Given the description of an element on the screen output the (x, y) to click on. 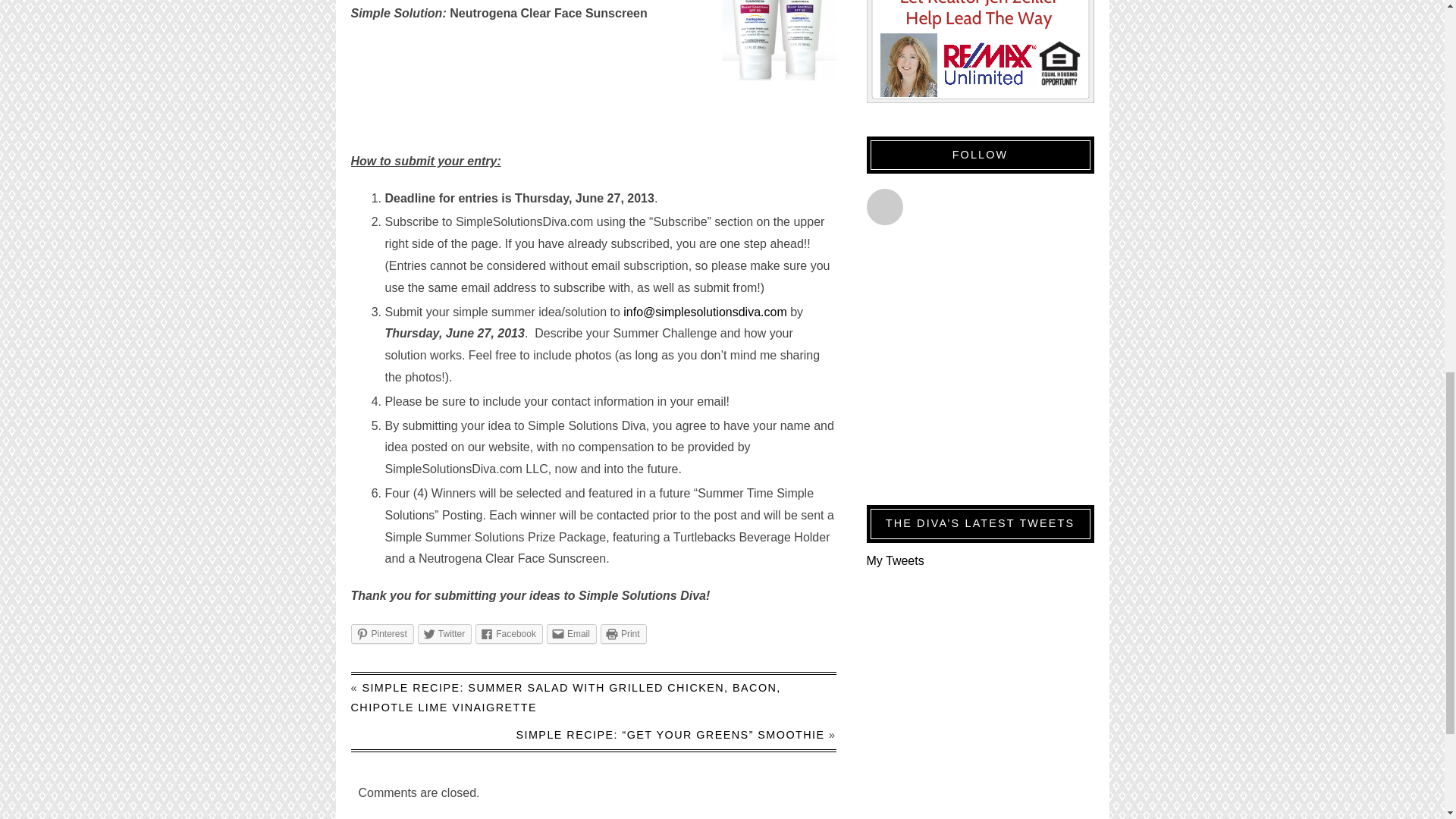
Print (622, 633)
Click to email this to a friend (571, 633)
Twitter (444, 633)
Pinterest (381, 633)
Click to share on Pinterest (381, 633)
Facebook (509, 633)
Click to print (622, 633)
Email (571, 633)
Click to share on Twitter (444, 633)
Click to share on Facebook (509, 633)
